Given the description of an element on the screen output the (x, y) to click on. 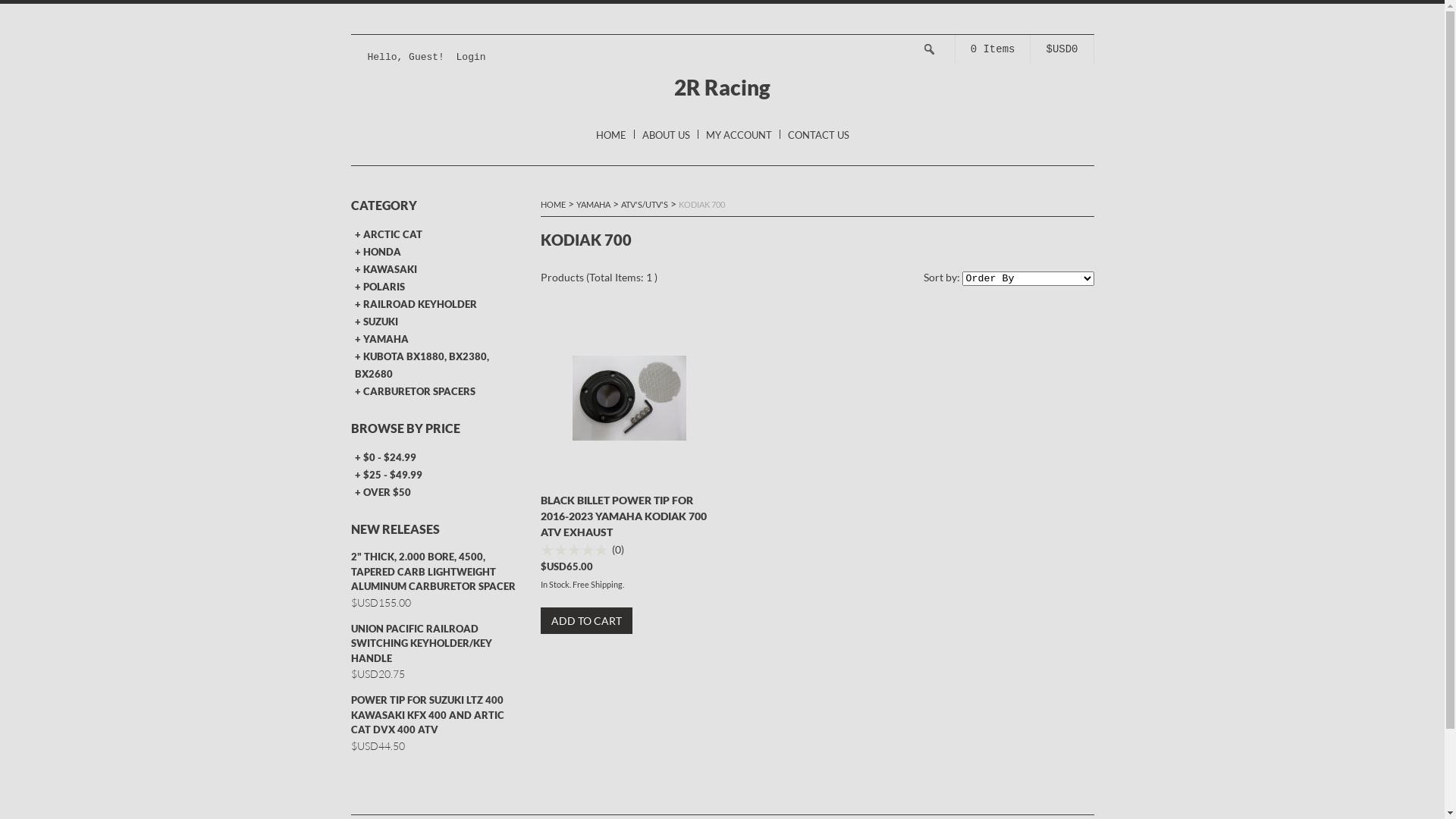
2R Racing Element type: text (721, 87)
Login Element type: text (471, 56)
ARCTIC CAT Element type: text (436, 234)
YAMAHA Element type: text (436, 339)
KAWASAKI Element type: text (436, 269)
RAILROAD KEYHOLDER Element type: text (436, 304)
$USD0 Element type: text (1061, 48)
KODIAK 700 Element type: text (700, 204)
HOME Element type: text (611, 134)
MY ACCOUNT Element type: text (738, 134)
SUZUKI Element type: text (436, 321)
0 Items Element type: text (993, 48)
ATV'S/UTV'S Element type: text (643, 204)
CONTACT US Element type: text (817, 134)
Add To Cart Element type: text (585, 620)
POLARIS Element type: text (436, 286)
KUBOTA BX1880, BX2380, BX2680 Element type: text (436, 365)
YAMAHA Element type: text (593, 204)
$25 - $49.99 Element type: text (436, 474)
CARBURETOR SPACERS Element type: text (436, 391)
UNION PACIFIC RAILROAD SWITCHING KEYHOLDER/KEY HANDLE Element type: text (436, 643)
HONDA Element type: text (436, 251)
ABOUT US Element type: text (665, 134)
HOME Element type: text (551, 204)
$0 - $24.99 Element type: text (436, 457)
OVER $50 Element type: text (436, 492)
